Given the description of an element on the screen output the (x, y) to click on. 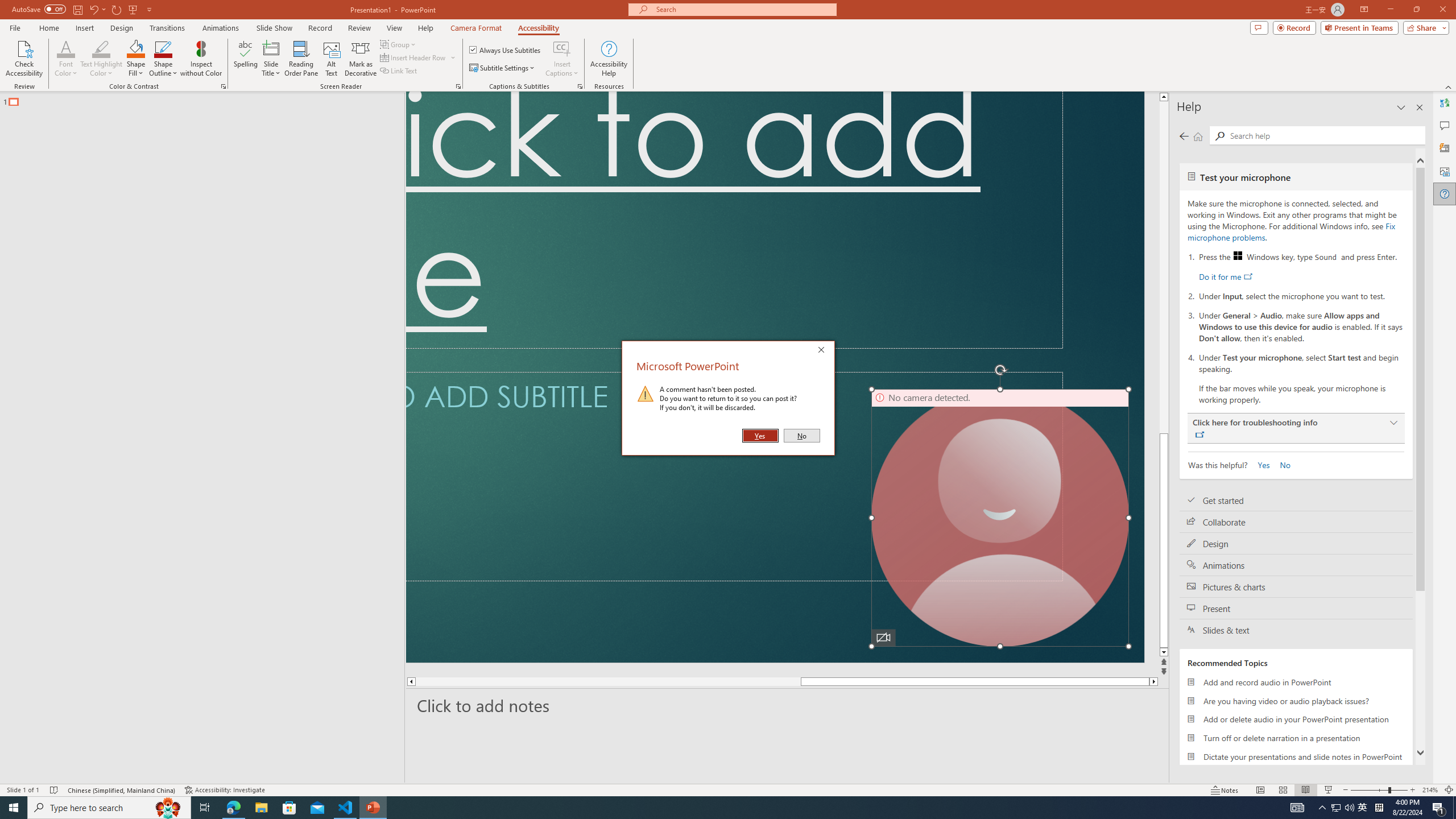
Collaborate (1295, 522)
Slides & text (1295, 630)
Inspect without Color (201, 58)
Insert Captions (561, 48)
Slide Title (271, 48)
